Given the description of an element on the screen output the (x, y) to click on. 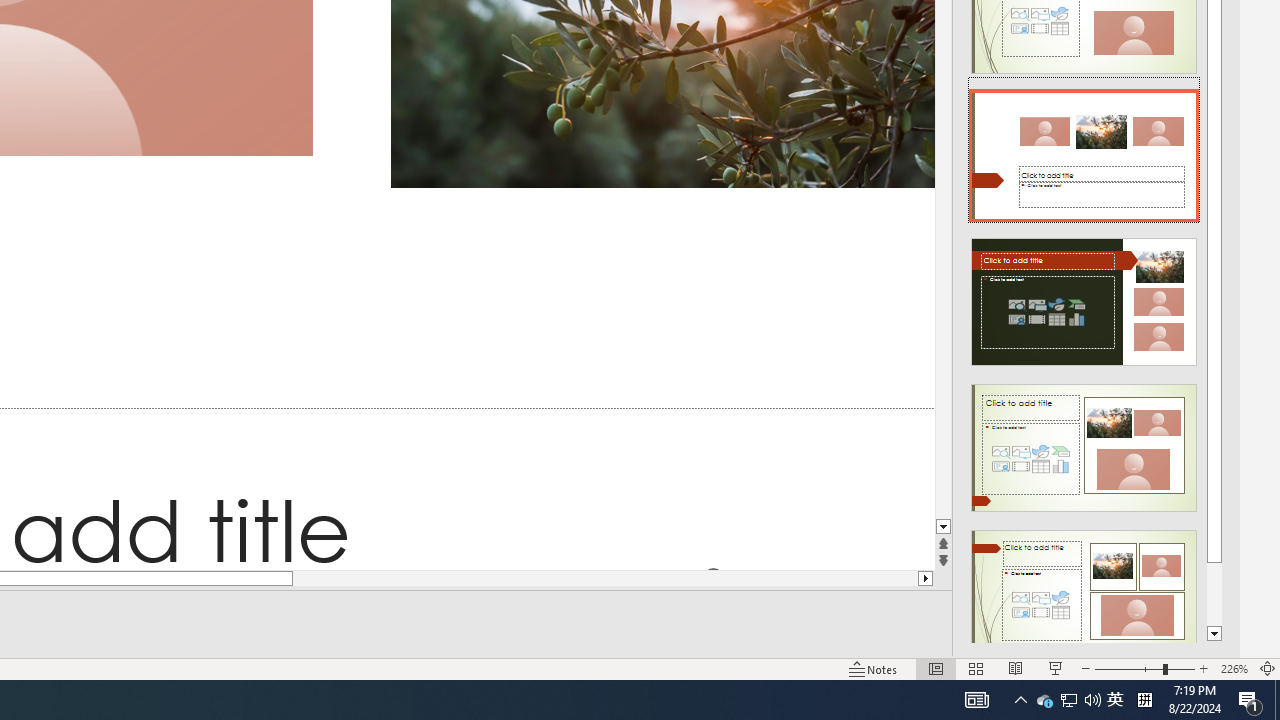
Zoom 226% (1234, 668)
